Given the description of an element on the screen output the (x, y) to click on. 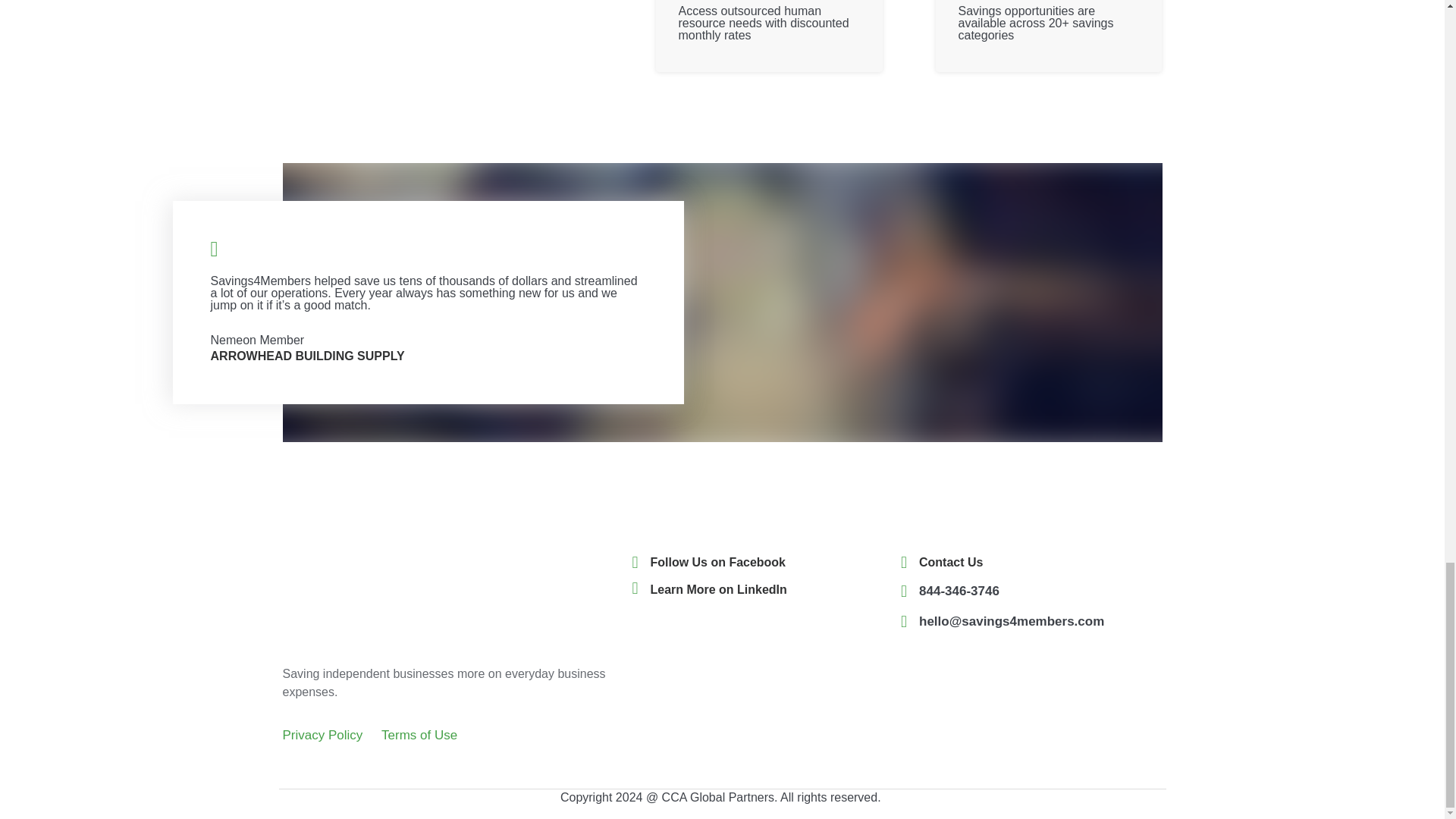
Learn More on LinkedIn (718, 589)
844-346-3746 (958, 590)
Privacy Policy (322, 735)
Terms of Use (419, 735)
Terms of Use (419, 735)
Contact Us (950, 562)
Follow Us on Facebook (718, 562)
Privacy Policy (322, 735)
